Given the description of an element on the screen output the (x, y) to click on. 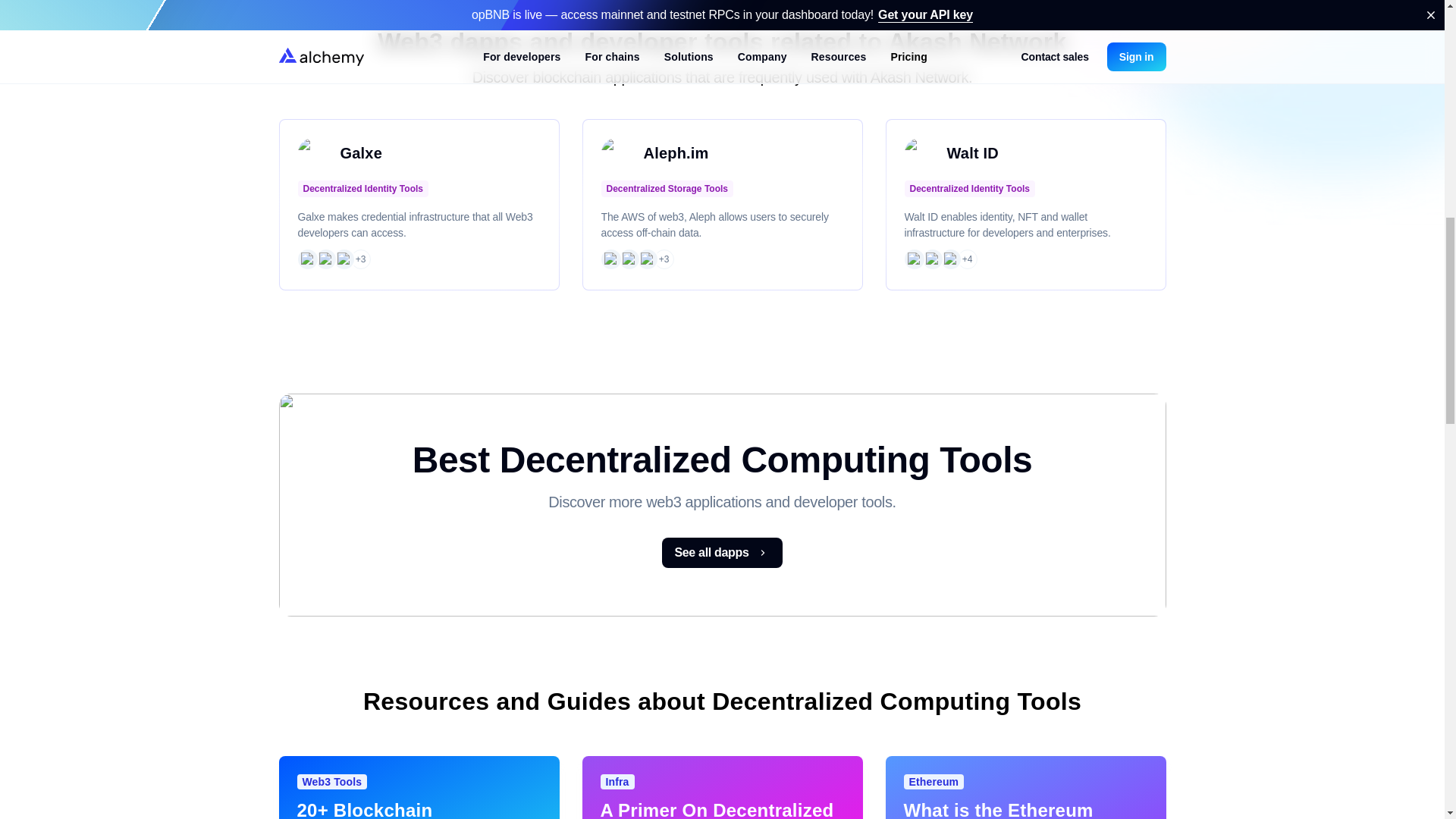
Ethereum (306, 259)
Polkadot (610, 259)
Ethereum (646, 259)
Avalanche (931, 259)
BNB Chain (343, 259)
Arbitrum (913, 259)
BNB Chain (949, 259)
Cosmos (627, 259)
Solana (324, 259)
